Given the description of an element on the screen output the (x, y) to click on. 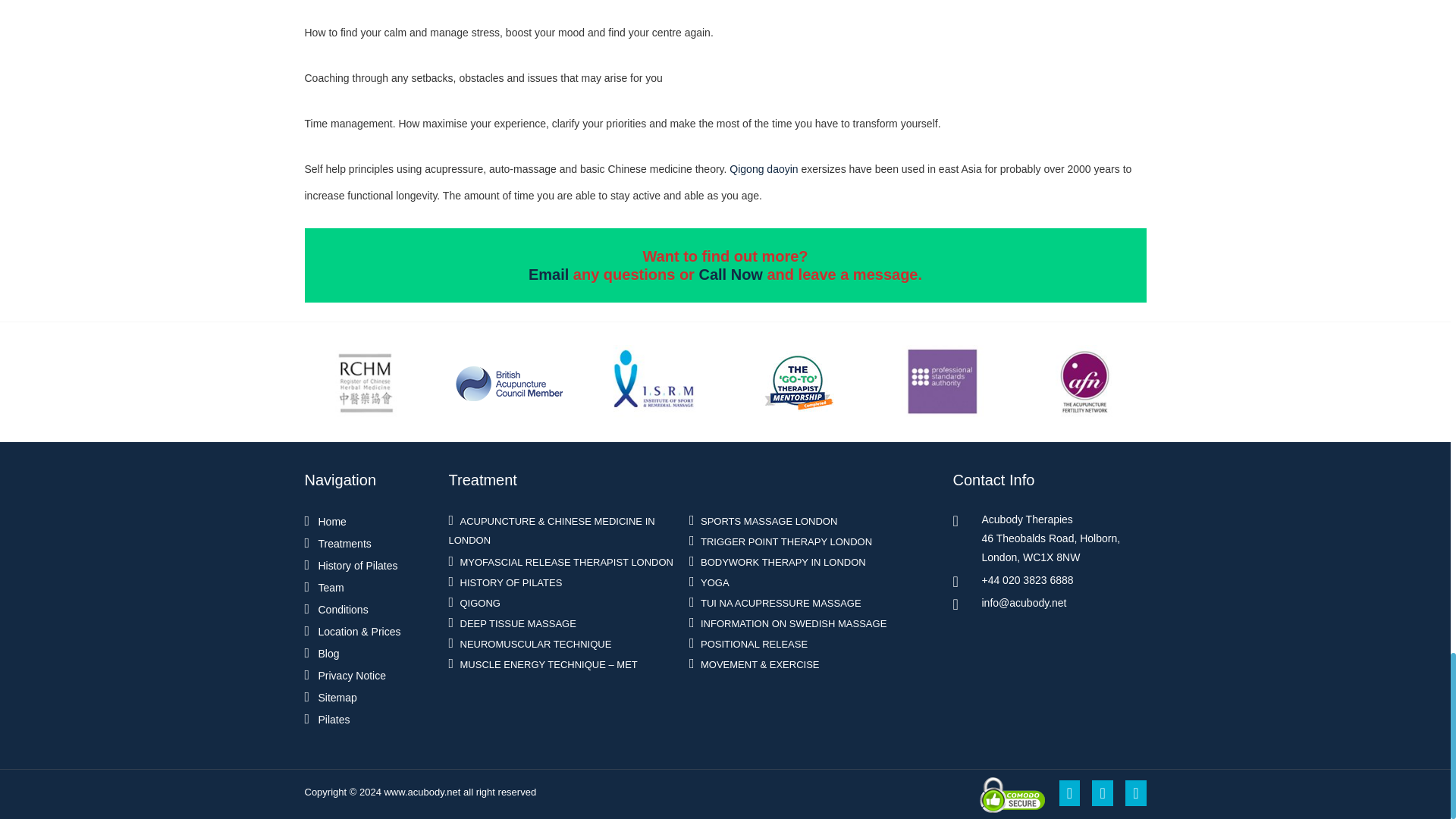
Sitemap (337, 697)
Email (548, 274)
Treatments (344, 543)
Pilates (334, 719)
Privacy Notice (351, 675)
SPORTS MASSAGE LONDON (770, 521)
Call Now (729, 274)
Team (330, 587)
Home (332, 521)
Qigong daoyin (764, 168)
MYOFASCIAL RELEASE THERAPIST LONDON (568, 562)
History of Pilates (357, 565)
Blog (328, 653)
Conditions (343, 609)
TRIGGER POINT THERAPY LONDON (788, 541)
